Given the description of an element on the screen output the (x, y) to click on. 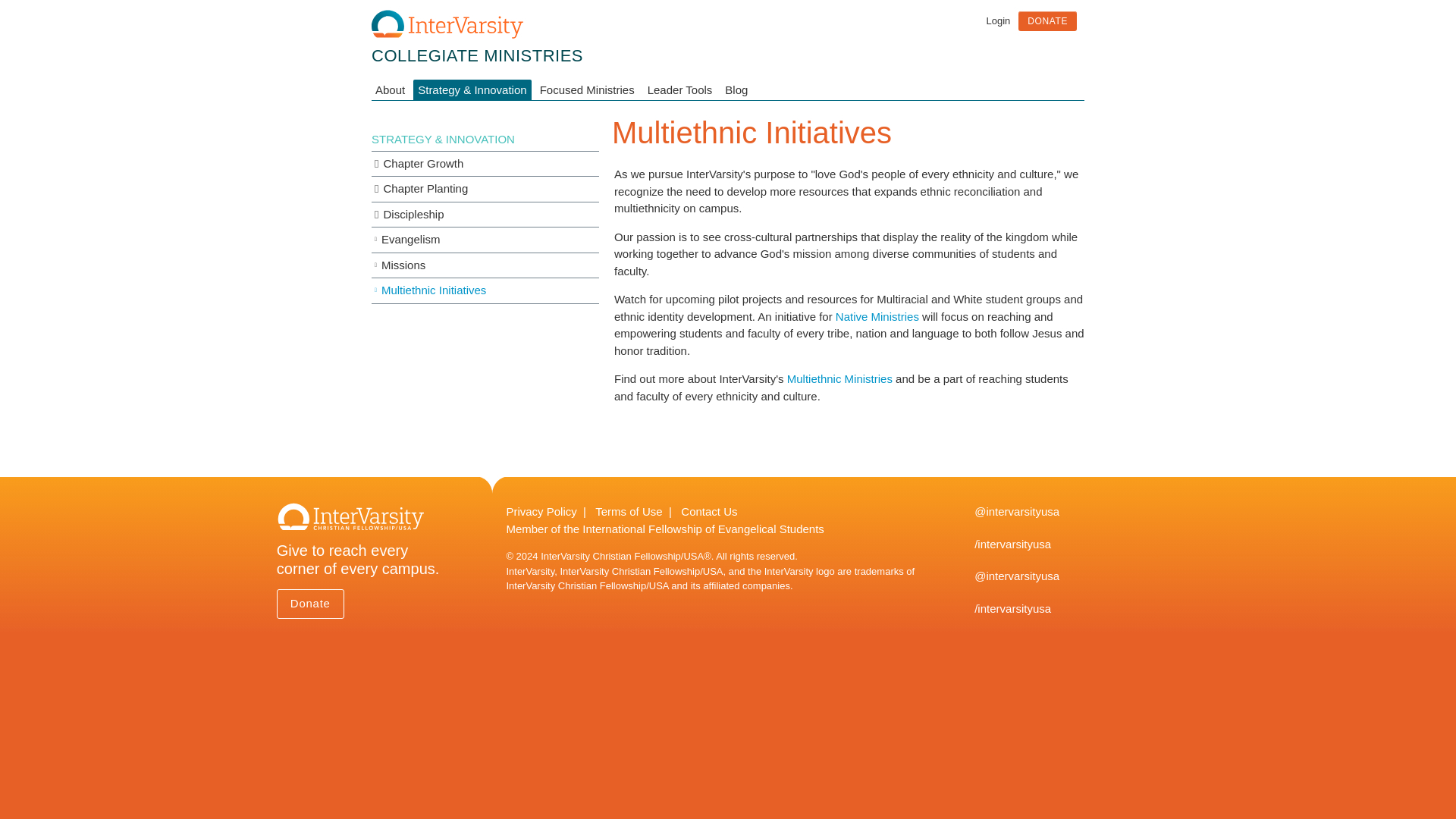
Home (477, 55)
Leader Tools (680, 89)
Login (997, 20)
Blog (736, 89)
About (392, 89)
InterVarsity (446, 34)
DONATE (1047, 21)
Focused Ministries (587, 89)
Chapter Growth (484, 163)
